Given the description of an element on the screen output the (x, y) to click on. 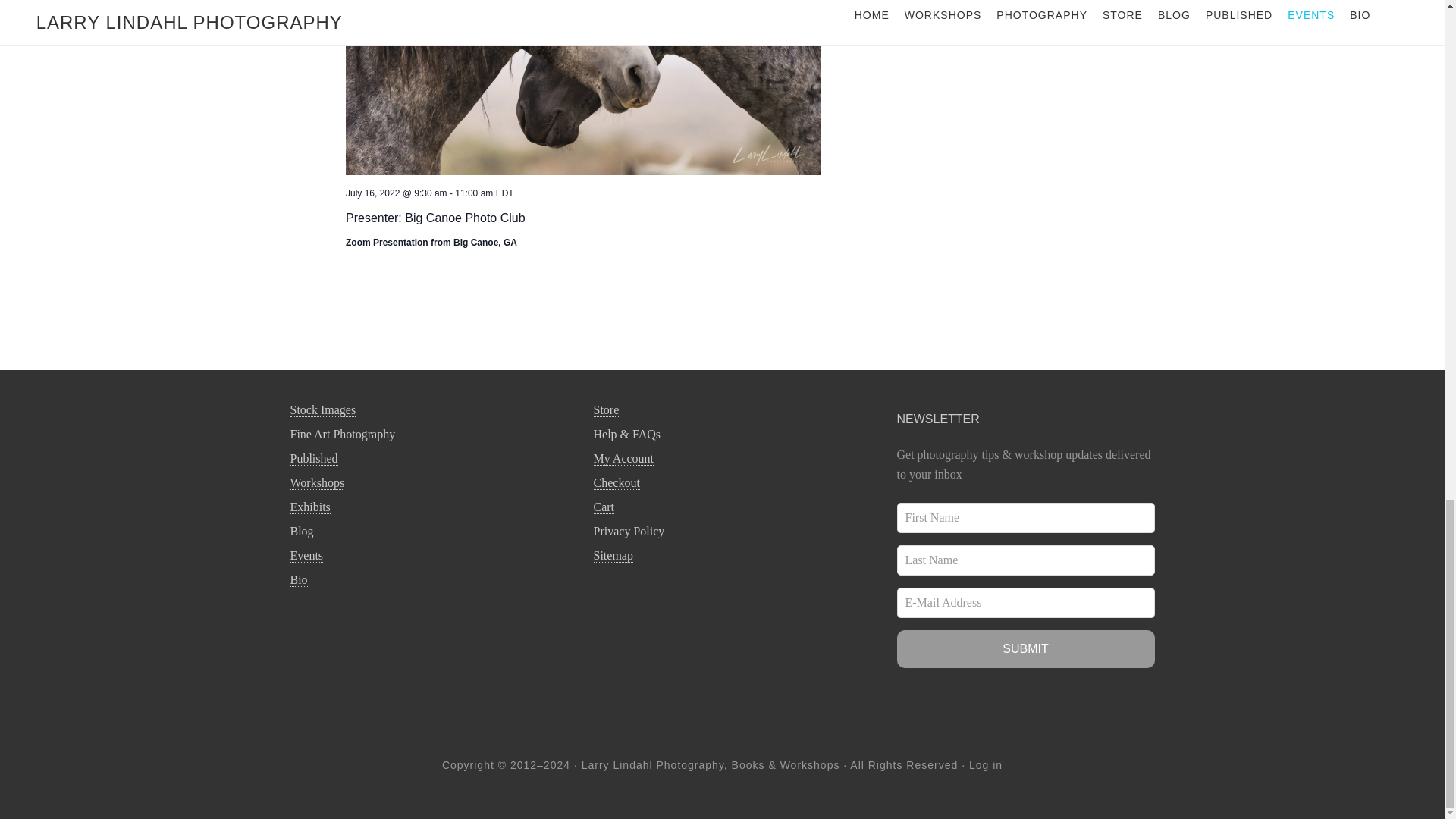
Presenter: Big Canoe Photo Club (583, 87)
Submit (1025, 648)
Presenter: Big Canoe Photo Club (435, 218)
Presenter: Big Canoe Photo Club (435, 218)
